Given the description of an element on the screen output the (x, y) to click on. 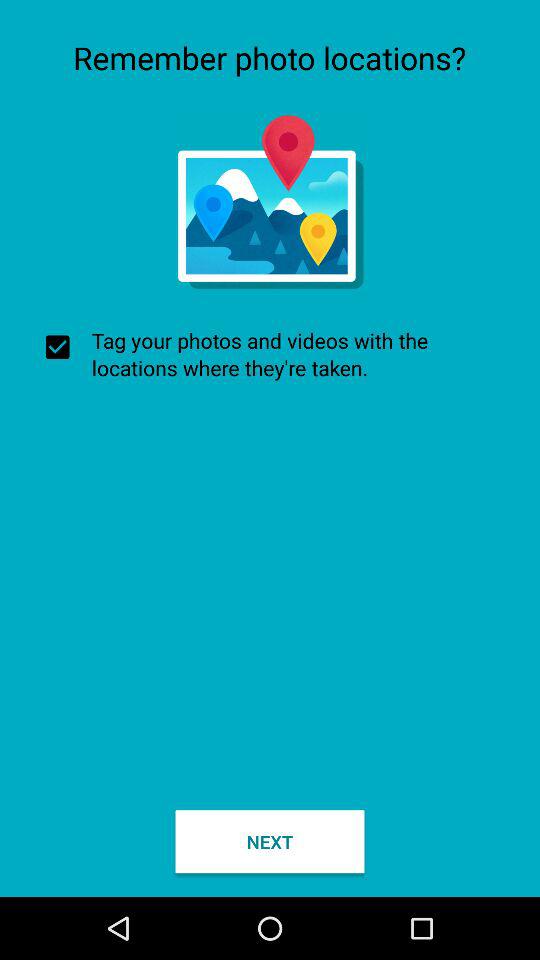
turn on the icon at the bottom (269, 841)
